Given the description of an element on the screen output the (x, y) to click on. 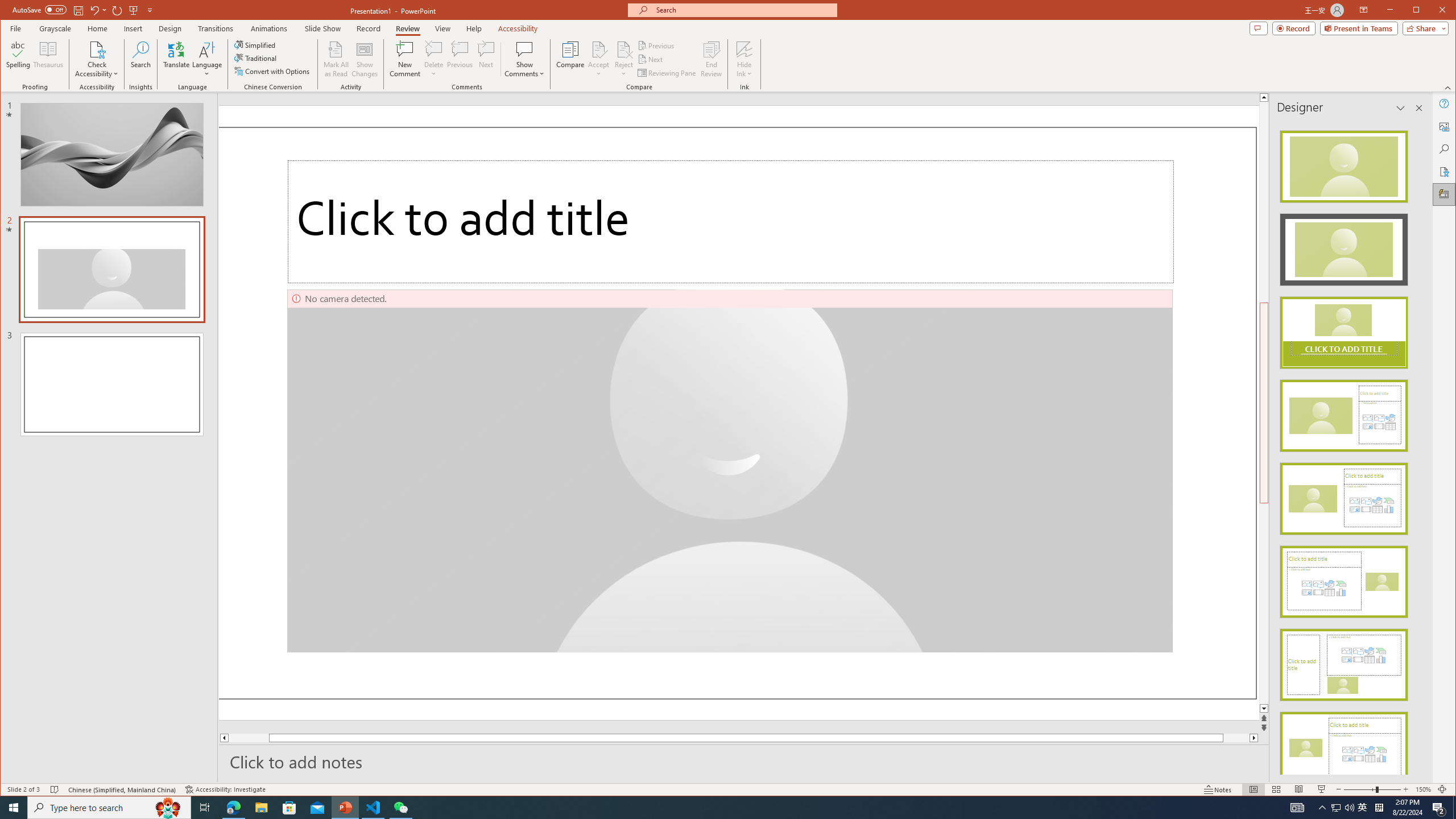
Translate (175, 59)
